Given the description of an element on the screen output the (x, y) to click on. 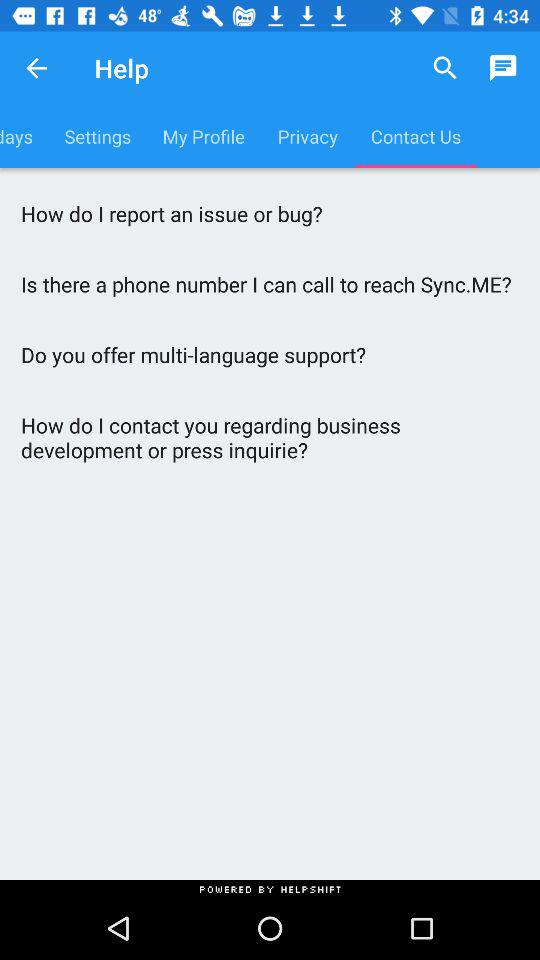
turn on the item next to help (36, 68)
